Given the description of an element on the screen output the (x, y) to click on. 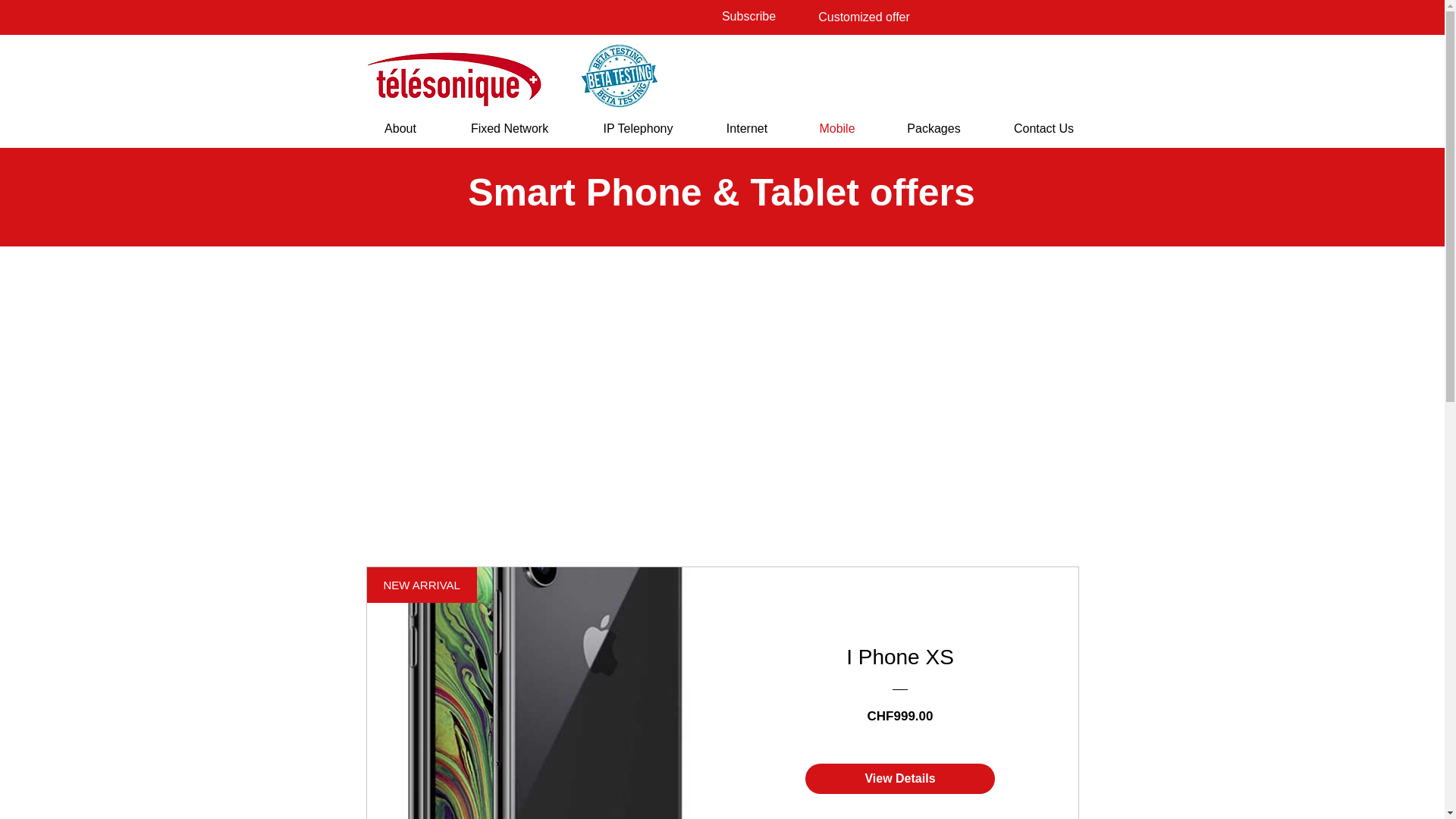
About (401, 128)
Internet (746, 128)
Contact Us (1043, 128)
Mobile (836, 128)
Customized offer (933, 128)
IP Telephony (863, 17)
Subscribe (638, 128)
Fixed Network (748, 16)
View Details (508, 128)
Telecom Services for Home, Office and Mobile (899, 778)
